Given the description of an element on the screen output the (x, y) to click on. 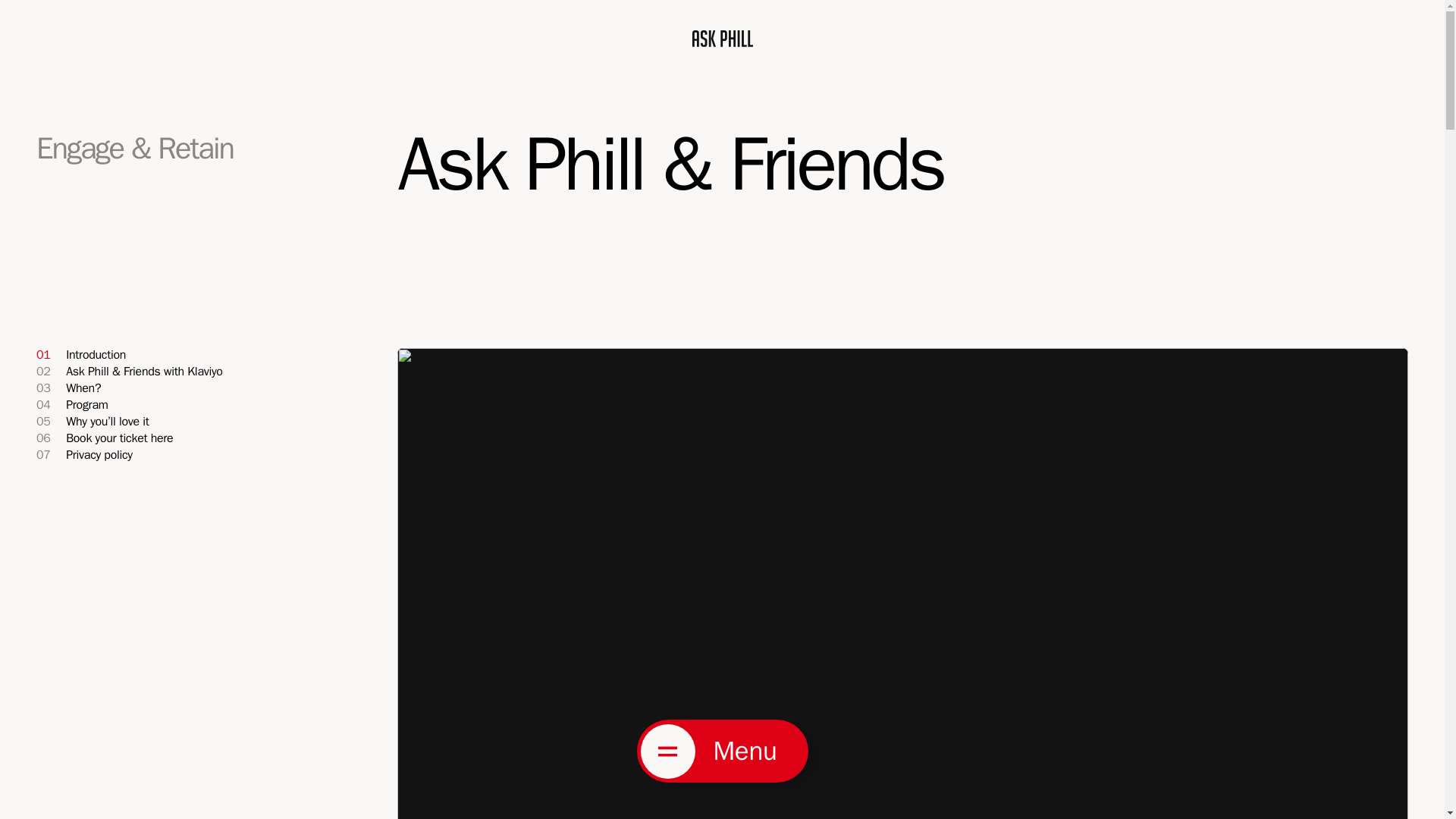
Menu (722, 750)
Ask Phill (84, 454)
